Given the description of an element on the screen output the (x, y) to click on. 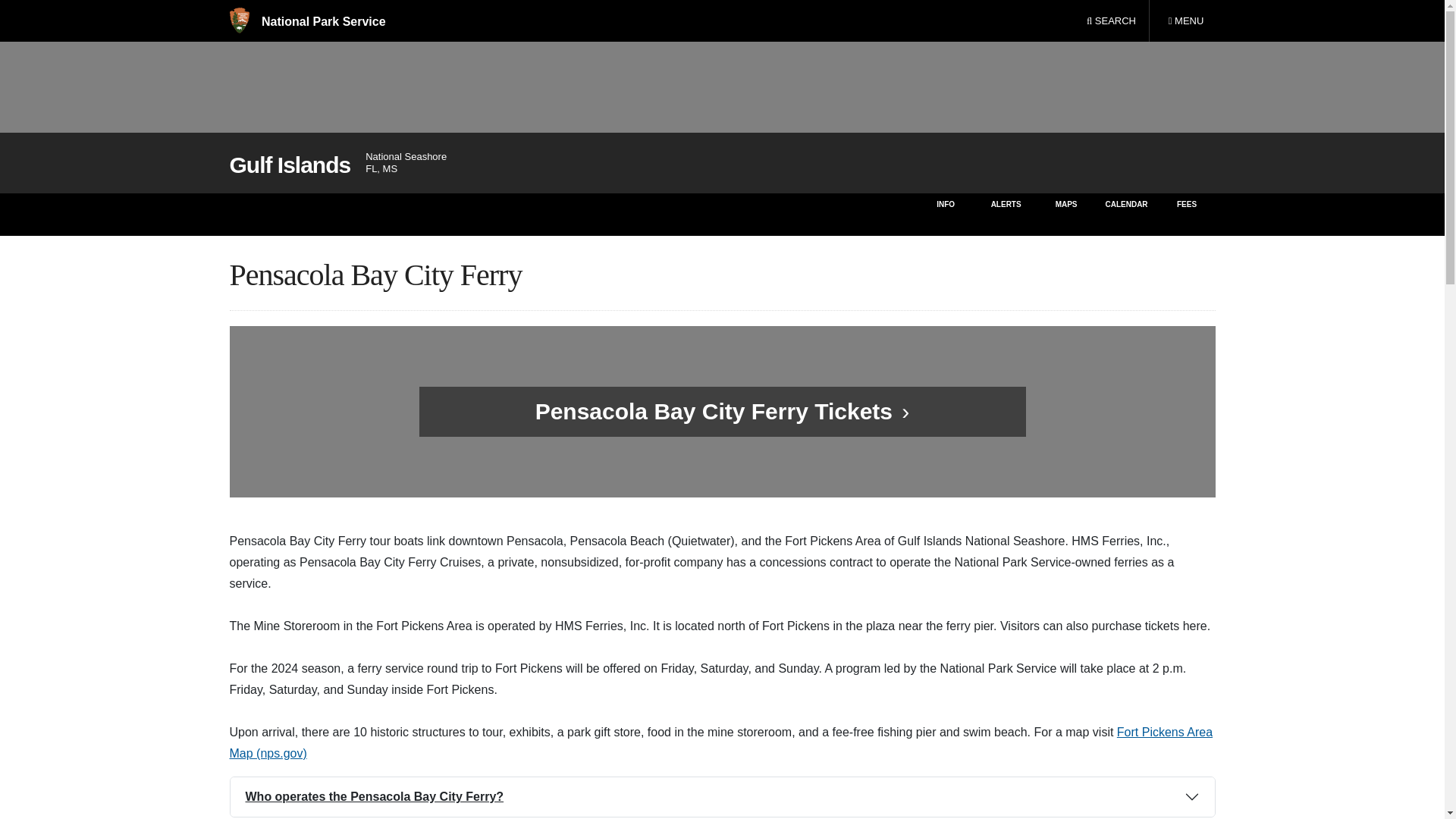
INFO (945, 214)
Pensacola Bay City Ferry Tickets (713, 411)
Gulf Islands (289, 164)
FEES (1186, 214)
MAPS (1066, 214)
SEARCH (1111, 20)
CALENDAR (1125, 214)
ALERTS (1185, 20)
National Park Service (1004, 214)
